Given the description of an element on the screen output the (x, y) to click on. 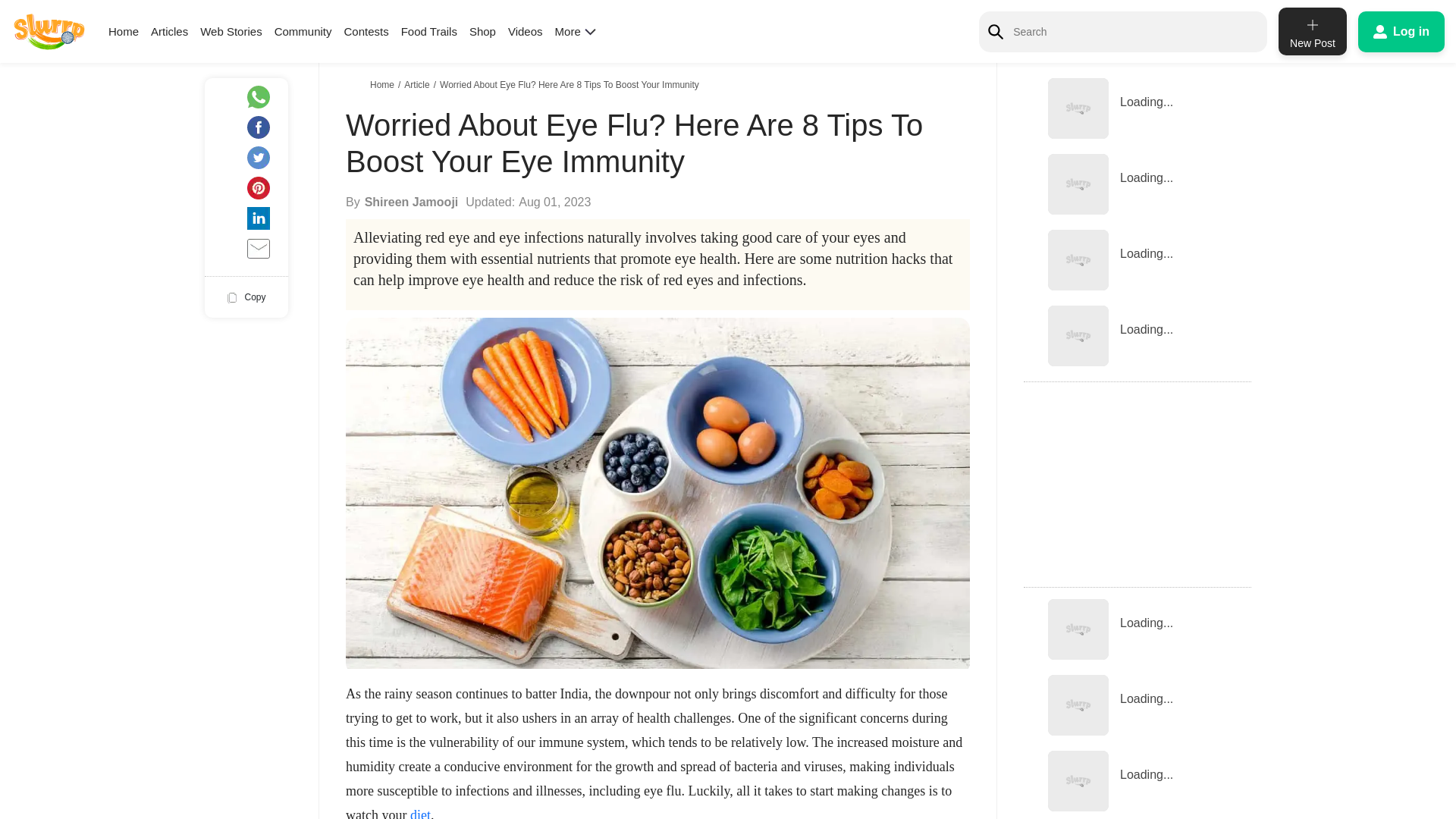
Home (122, 31)
Log in (1401, 30)
Contests (365, 31)
New Post (1312, 31)
Food Trails (429, 31)
Articles (169, 31)
Shop (482, 31)
user login (1401, 30)
Videos (525, 31)
Community (303, 31)
